Given the description of an element on the screen output the (x, y) to click on. 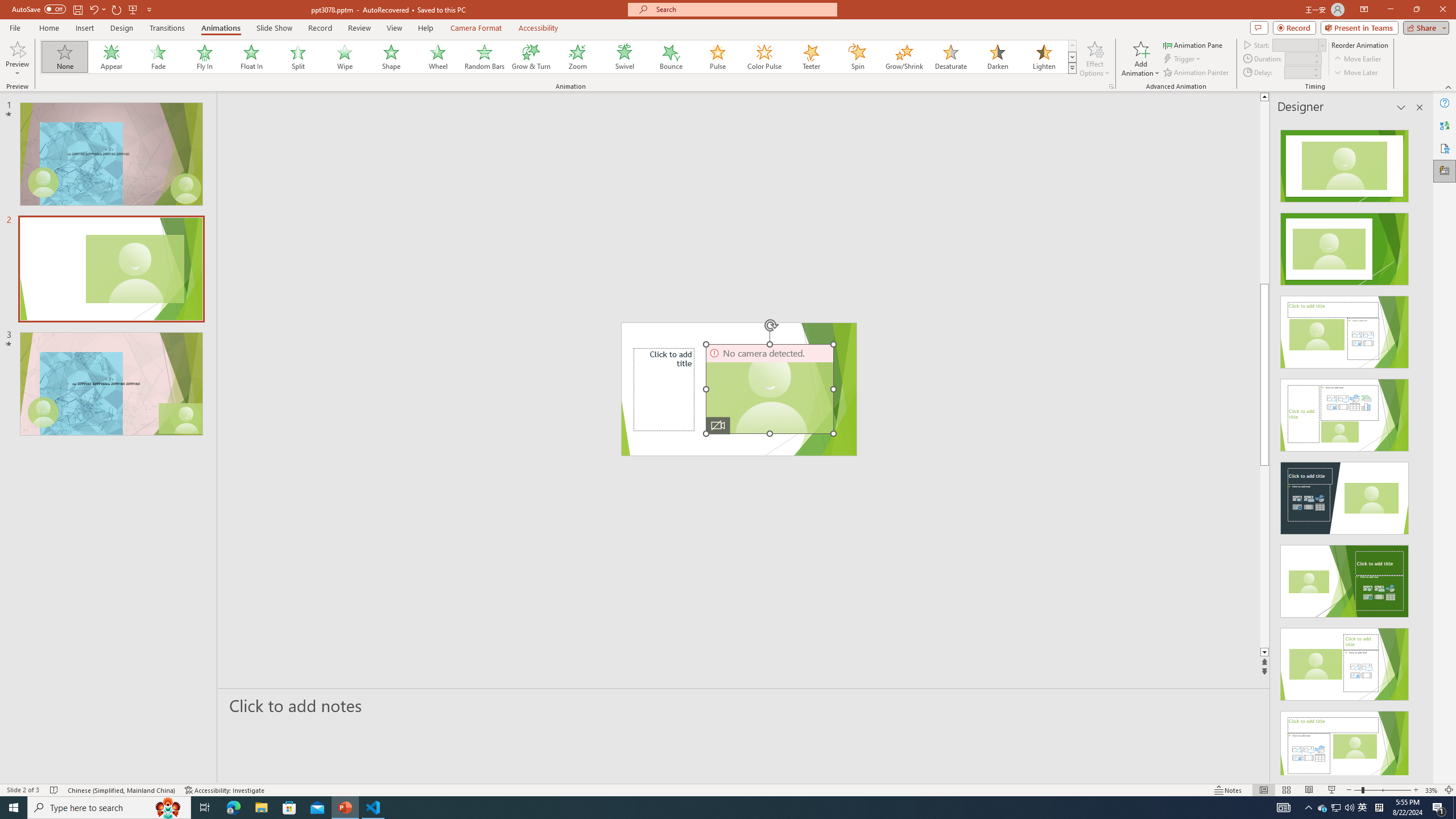
Swivel (624, 56)
Appear (111, 56)
Bounce (670, 56)
Grow/Shrink (903, 56)
More Options... (1110, 85)
Shape (391, 56)
